Given the description of an element on the screen output the (x, y) to click on. 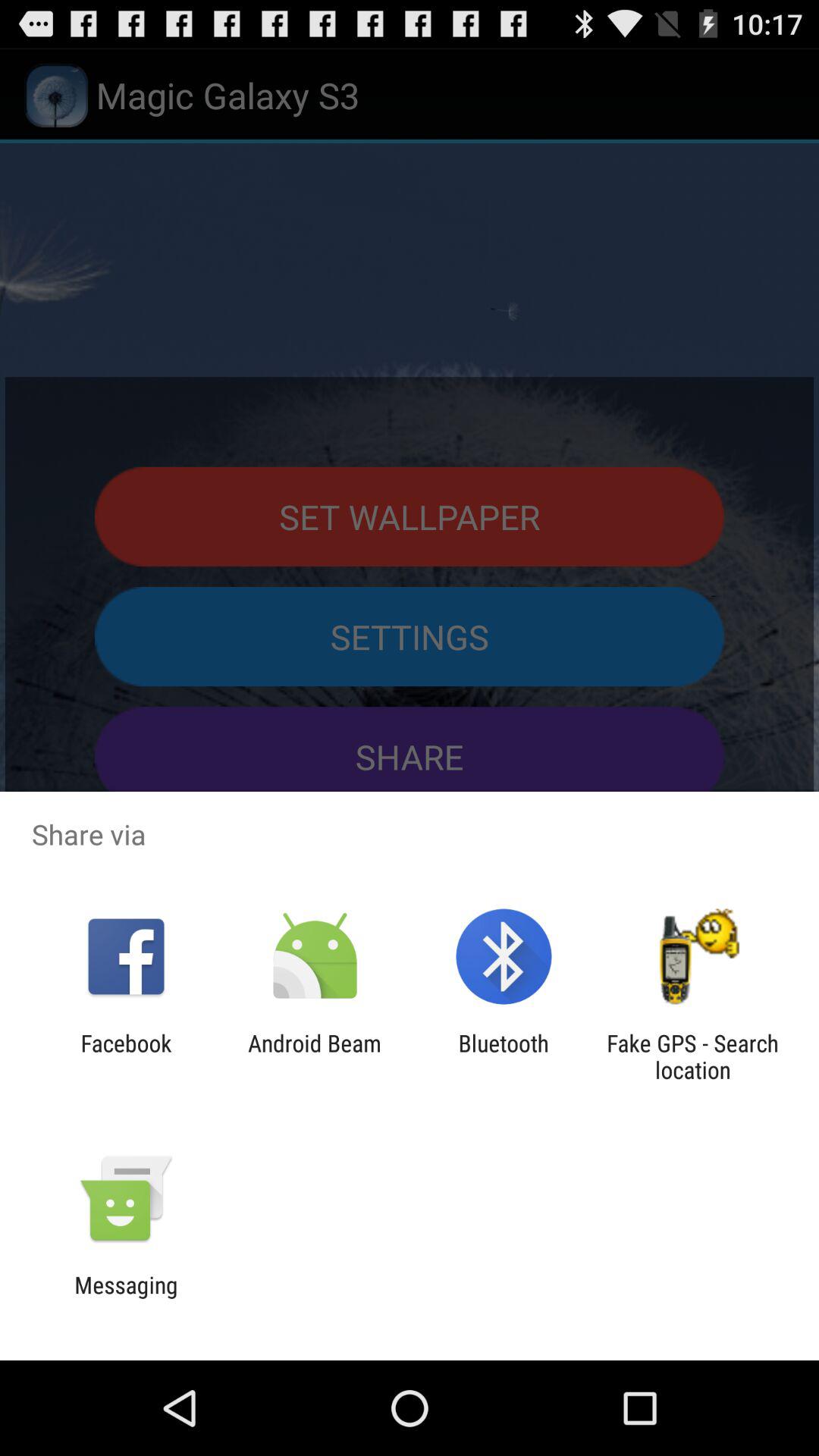
jump to the facebook icon (125, 1056)
